Given the description of an element on the screen output the (x, y) to click on. 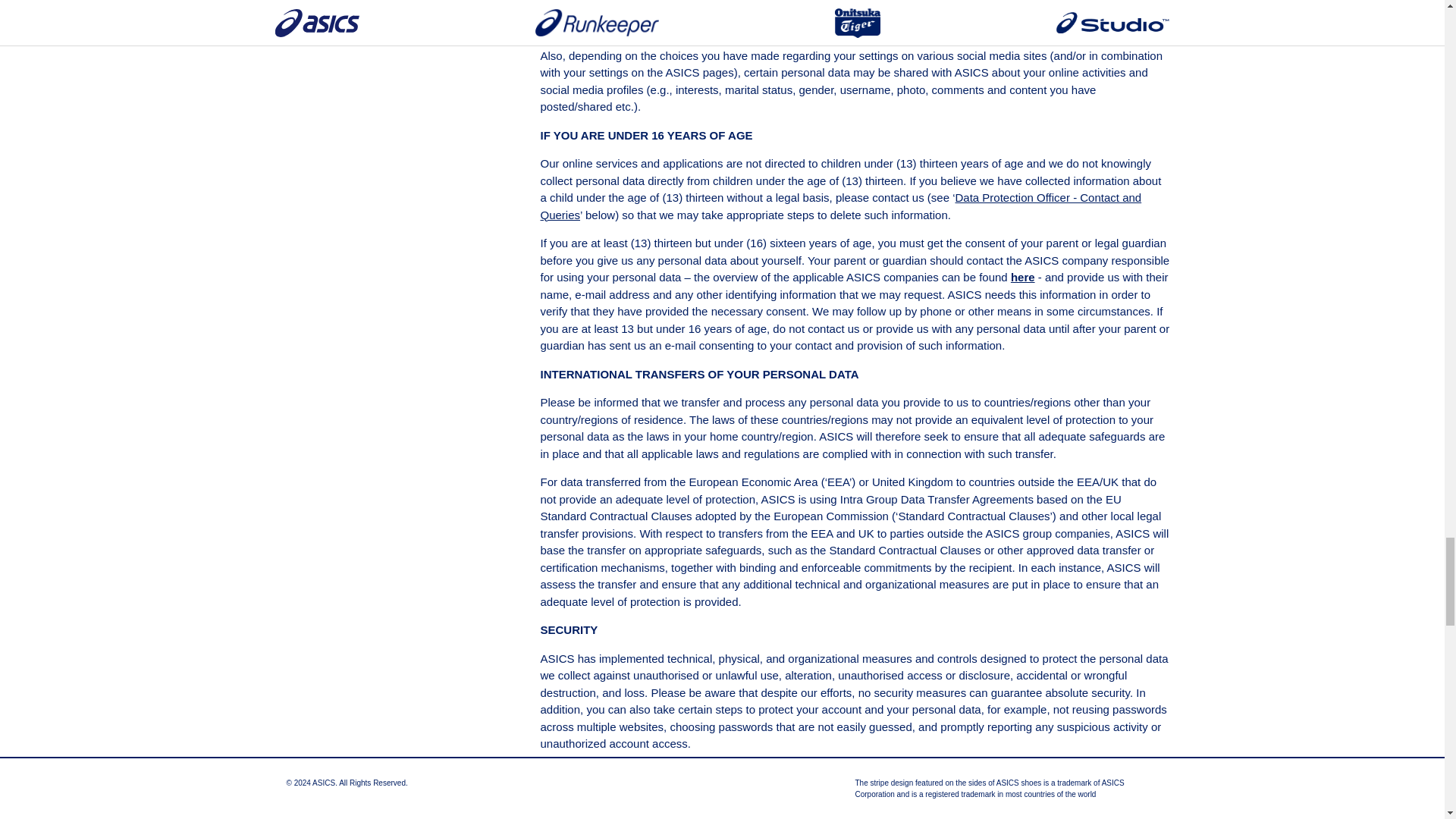
here (1022, 277)
